Given the description of an element on the screen output the (x, y) to click on. 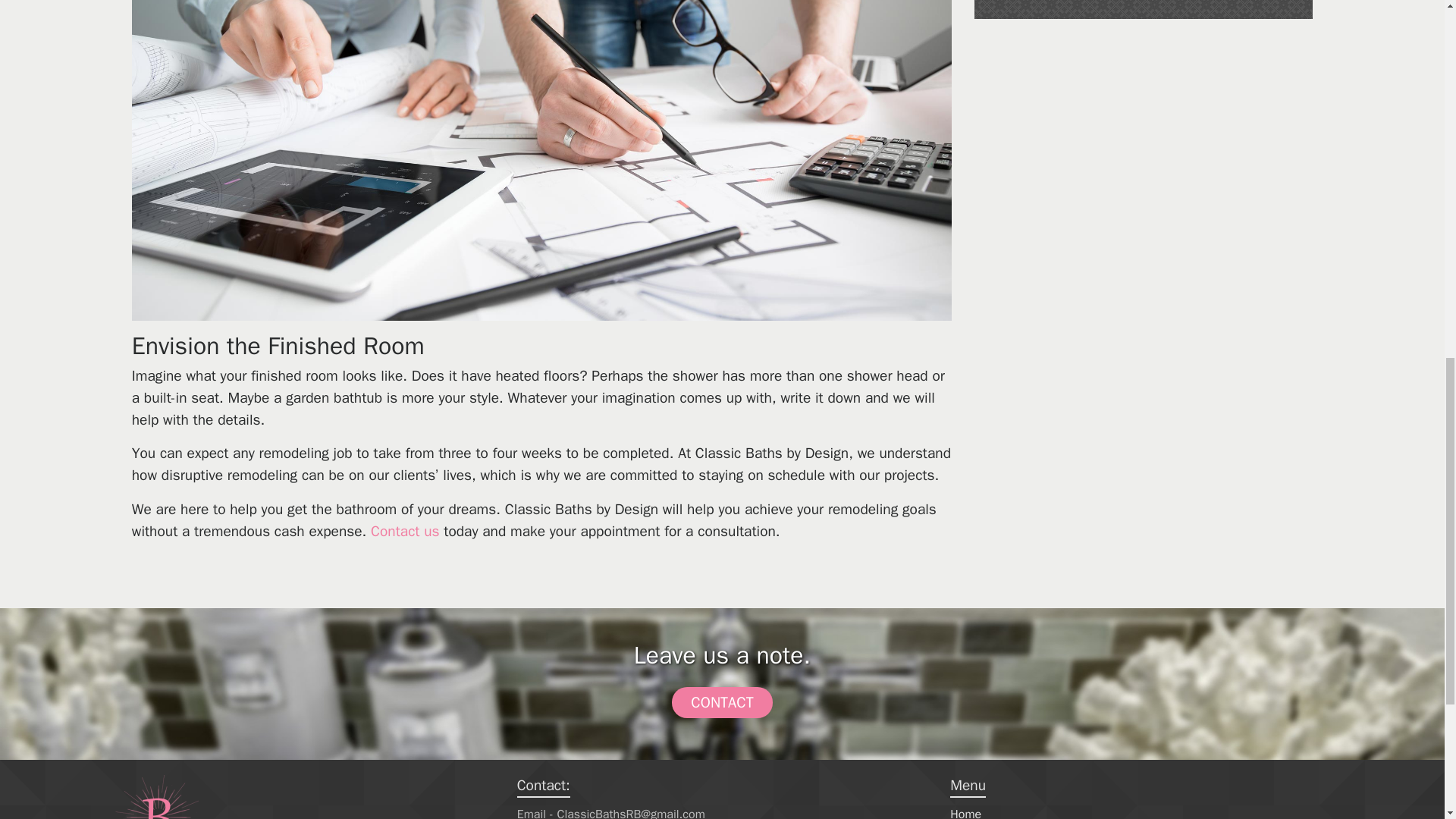
Contact us (405, 531)
Home (965, 812)
Contact Classic Baths by Design in Alpharetta GA (405, 531)
CONTACT (721, 702)
